Given the description of an element on the screen output the (x, y) to click on. 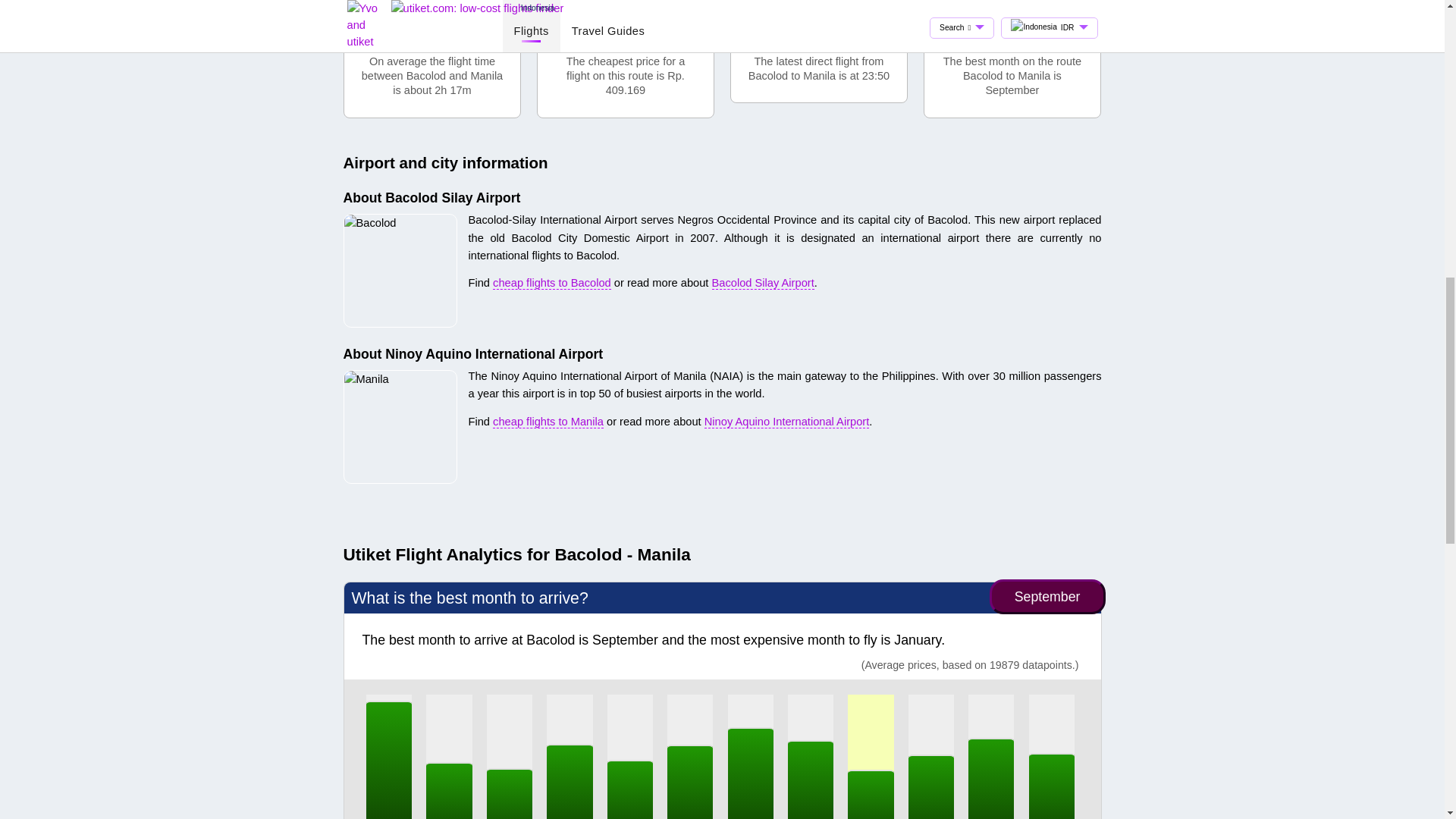
Bacolod Silay Airport (762, 282)
Ninoy Aquino International Airport (786, 421)
cheap flights to Bacolod (552, 282)
cheap flights to Manila (548, 421)
